Given the description of an element on the screen output the (x, y) to click on. 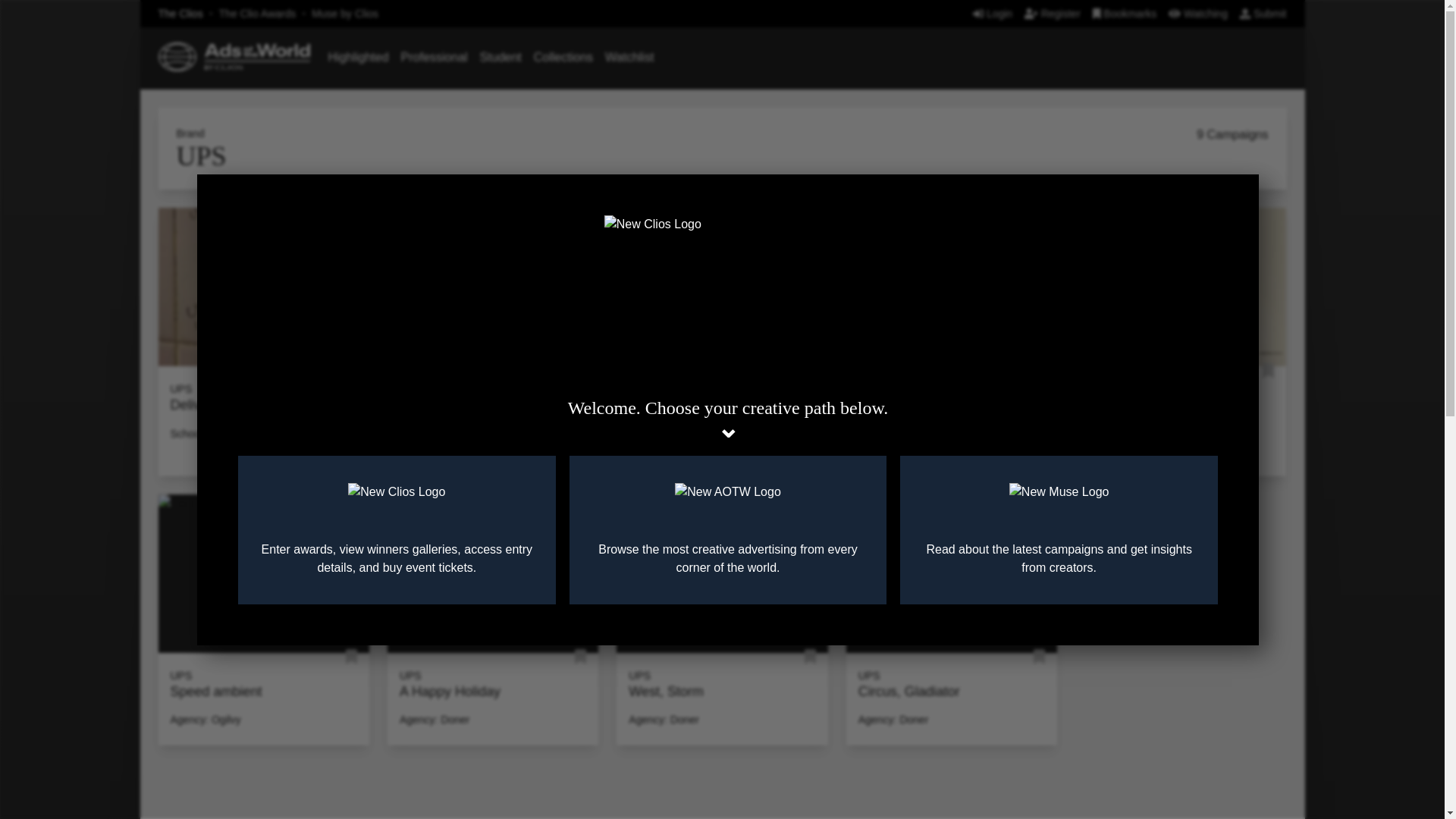
Highlighted (357, 56)
Watching (1198, 13)
The Clio Awards (258, 13)
Muse by Clios (344, 13)
Bookmarks (1125, 13)
UPS (181, 388)
Watchlist (629, 56)
Login (991, 13)
Bookmarks (1125, 13)
Register (1052, 13)
